Given the description of an element on the screen output the (x, y) to click on. 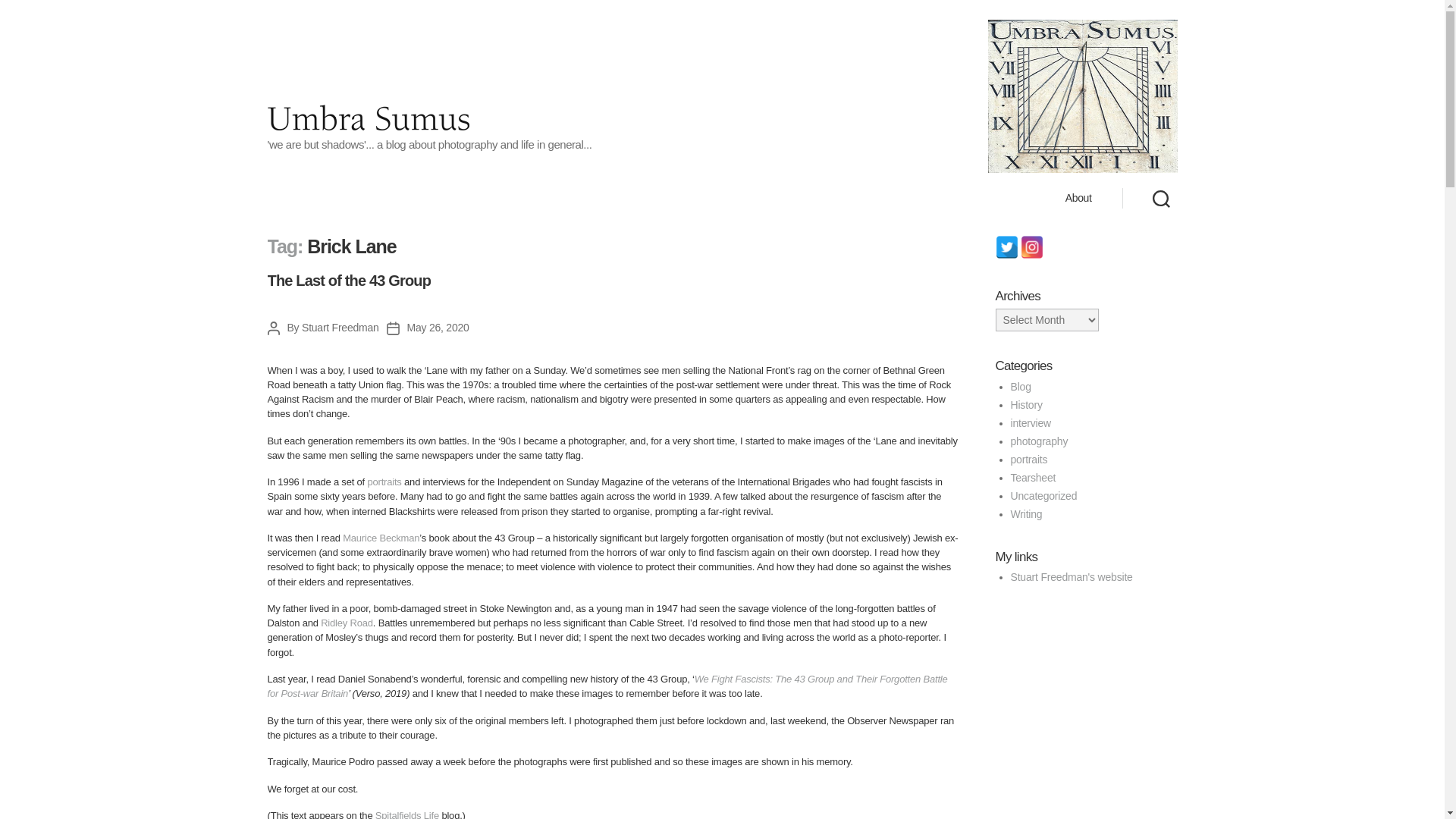
Twitter (1005, 246)
Ridley Road (346, 622)
Spitalfields Life (407, 814)
May 26, 2020 (437, 327)
The Last of the 43 Group (348, 280)
portraits (383, 481)
Instagram (1031, 246)
Stuart Freedman (339, 327)
Maurice Beckman (380, 537)
